Given the description of an element on the screen output the (x, y) to click on. 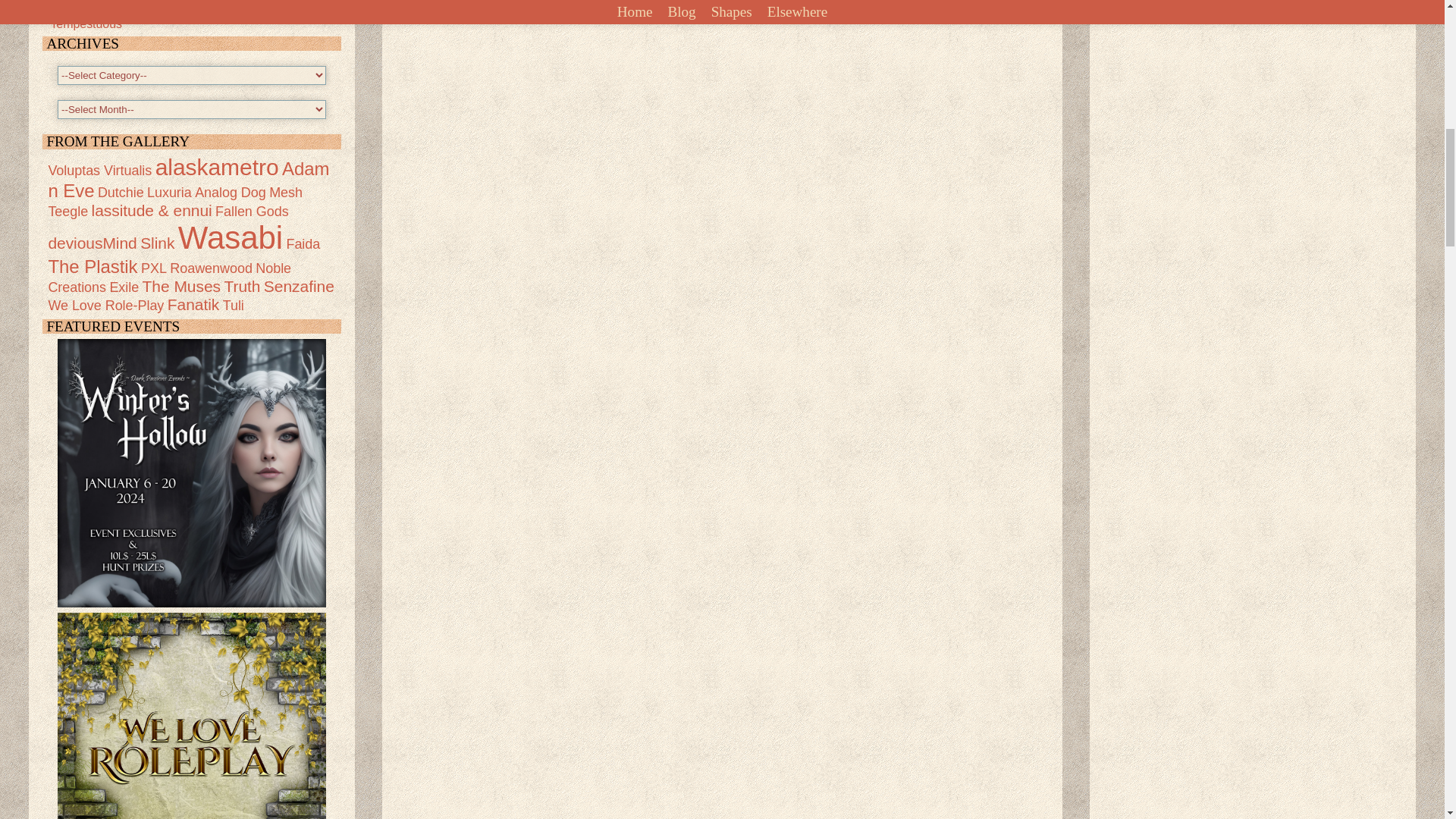
Wasabi (229, 237)
Faida (302, 243)
PXL (154, 268)
Fallen Gods (251, 211)
Claiming the Throne (103, 1)
The Plastik (92, 266)
We Love Role-Play (192, 715)
Mesh (285, 192)
Analog Dog (230, 192)
Voluptas Virtualis (99, 170)
Hair Fair 2024 Coming Soon (126, 10)
deviousMind (92, 242)
Teegle (67, 211)
Roawenwood (210, 268)
alaskametro (217, 166)
